Given the description of an element on the screen output the (x, y) to click on. 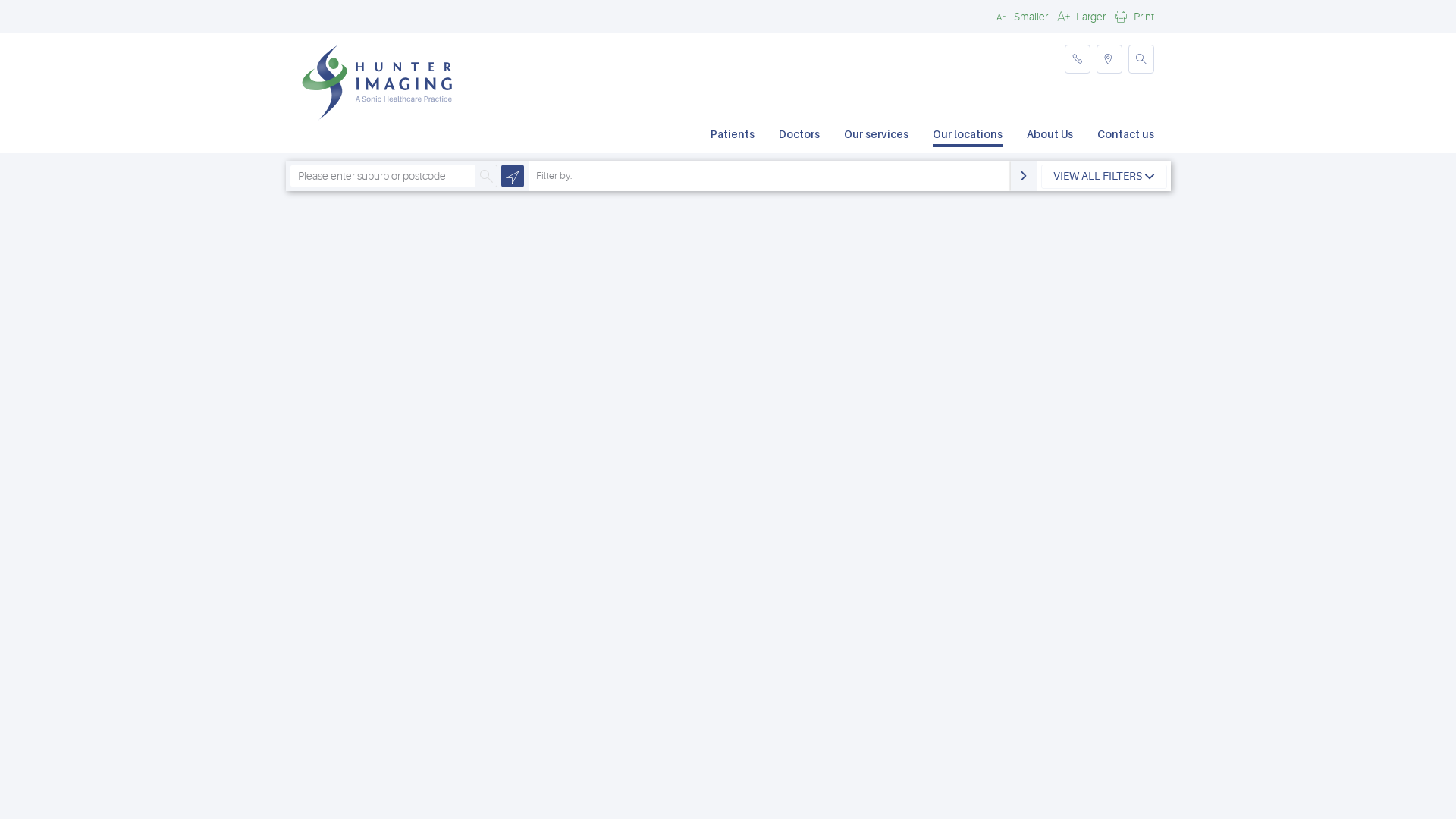
location Element type: hover (1109, 58)
Larger Element type: text (1079, 15)
About Us Element type: text (1049, 135)
phone Element type: hover (1077, 58)
Use current location Element type: hover (512, 175)
Patients Element type: text (732, 135)
Our services Element type: text (876, 135)
Our locations Element type: text (967, 135)
Doctors Element type: text (798, 135)
Print Element type: text (1132, 15)
Contact us Element type: text (1125, 135)
Smaller Element type: text (1019, 15)
VIEW ALL FILTERS Element type: text (1104, 176)
